Given the description of an element on the screen output the (x, y) to click on. 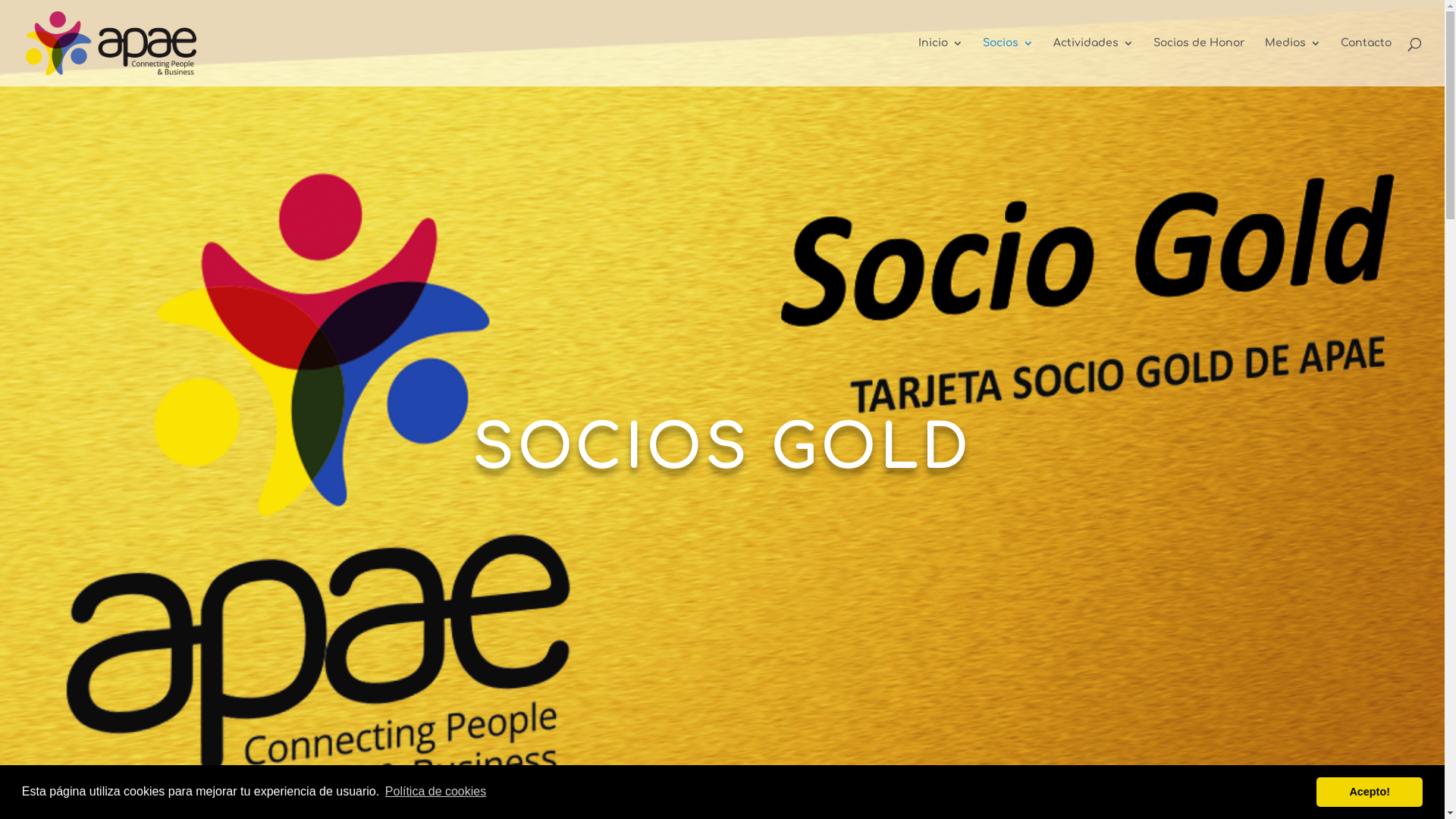
Acepto! Element type: text (1369, 791)
Inicio Element type: text (940, 61)
Socios Element type: text (1007, 61)
Contacto Element type: text (1365, 61)
Medios Element type: text (1292, 61)
7 Element type: text (721, 783)
Socios de Honor Element type: text (1199, 61)
Actividades Element type: text (1093, 61)
